Given the description of an element on the screen output the (x, y) to click on. 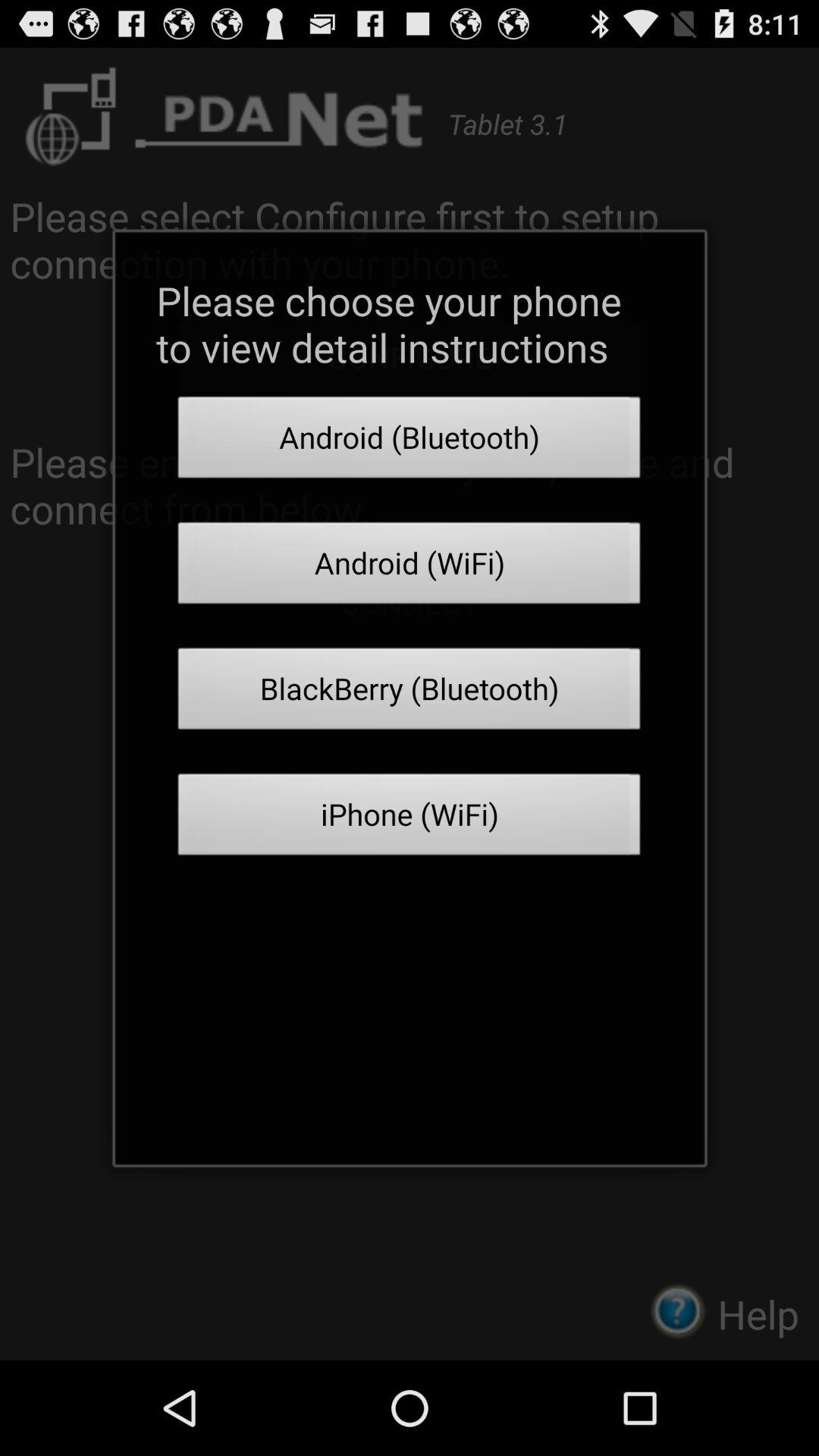
turn on the icon above the blackberry (bluetooth) icon (409, 567)
